Given the description of an element on the screen output the (x, y) to click on. 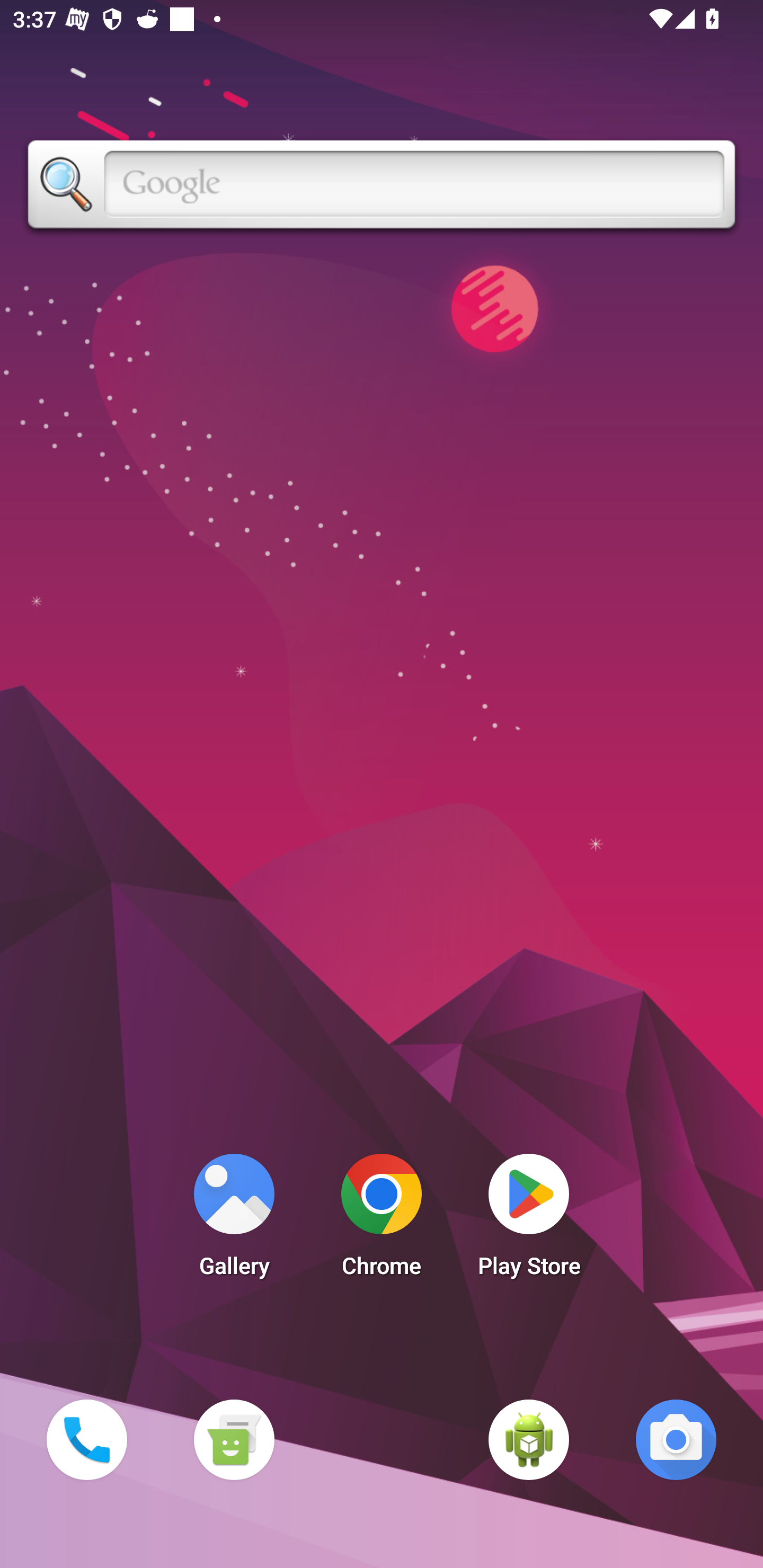
Gallery (233, 1220)
Chrome (381, 1220)
Play Store (528, 1220)
Phone (86, 1439)
Messaging (233, 1439)
WebView Browser Tester (528, 1439)
Camera (676, 1439)
